Given the description of an element on the screen output the (x, y) to click on. 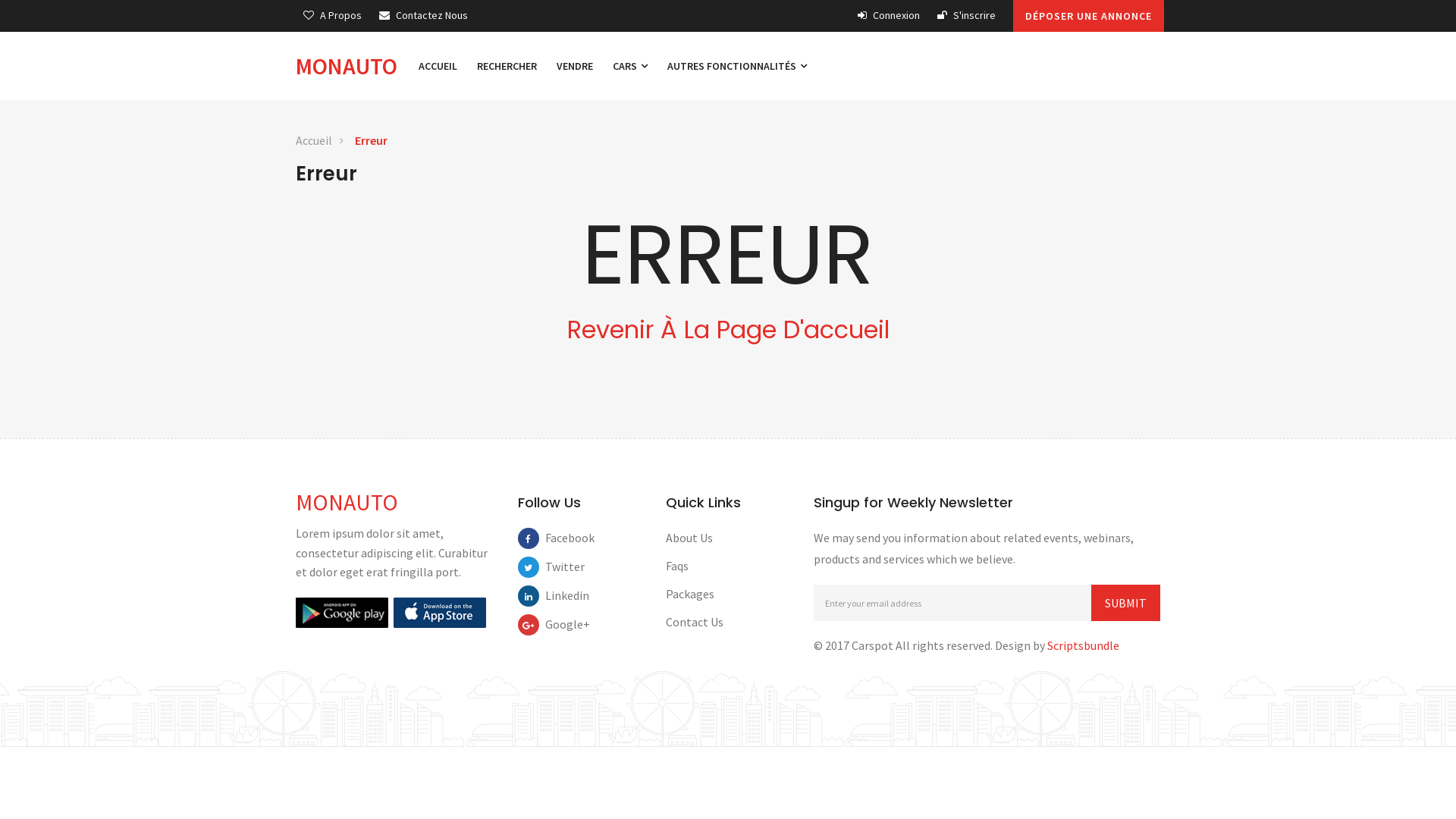
ACCUEIL Element type: text (437, 65)
MONAUTO Element type: text (351, 65)
Accueil Element type: text (313, 140)
Packages Element type: text (689, 593)
S'Inscrire Element type: text (966, 14)
MONAUTO Element type: text (346, 501)
Connexion Element type: text (888, 14)
CARS Element type: text (629, 65)
Contact Us Element type: text (694, 621)
Scriptsbundle Element type: text (1082, 644)
Faqs Element type: text (676, 565)
Contactez Nous Element type: text (423, 14)
About Us Element type: text (688, 537)
A Propos Element type: text (332, 14)
VENDRE Element type: text (574, 65)
Submit Element type: text (1125, 602)
RECHERCHER Element type: text (506, 65)
Erreur Element type: text (370, 140)
